Given the description of an element on the screen output the (x, y) to click on. 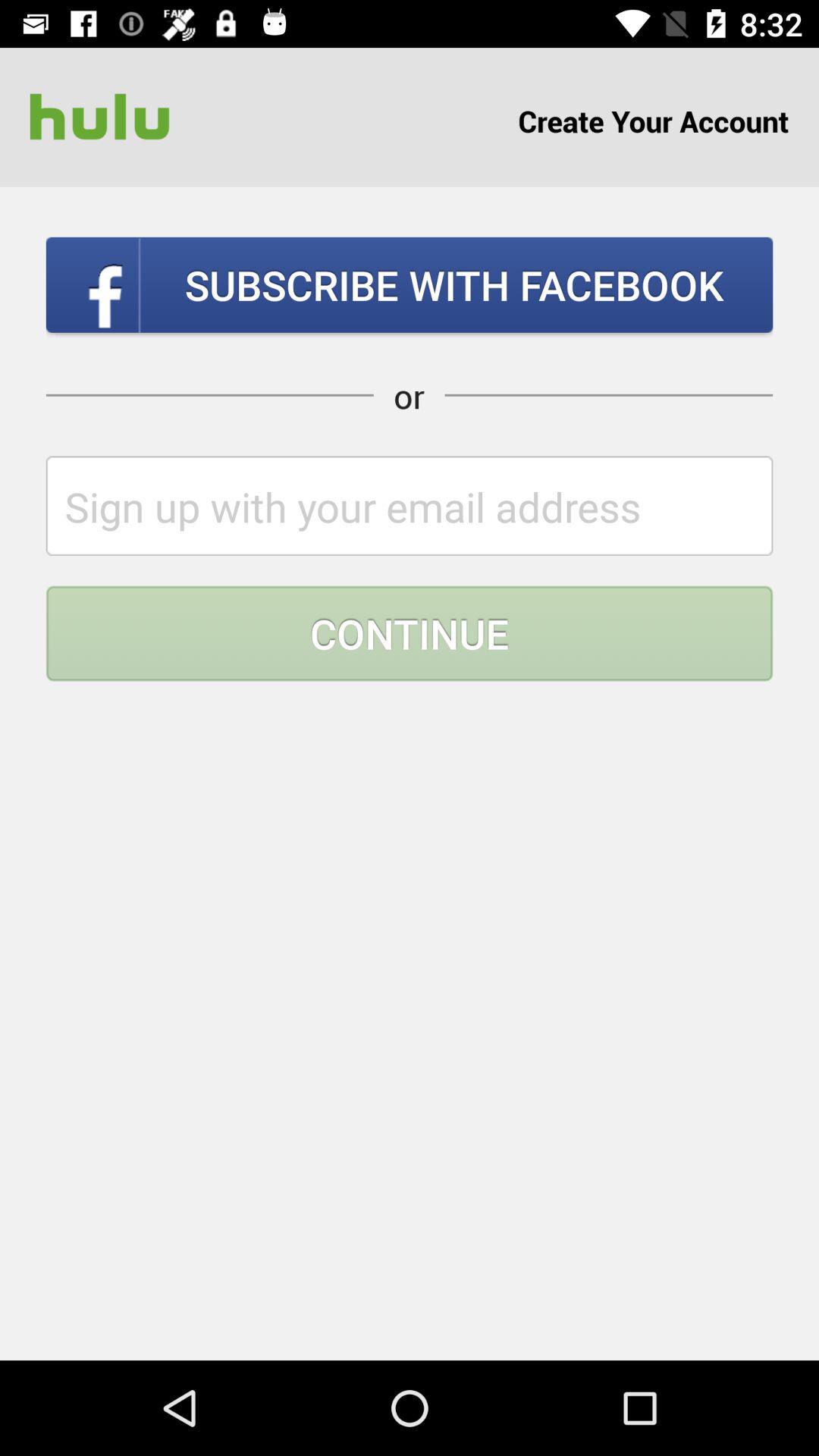
enter email address (409, 505)
